Given the description of an element on the screen output the (x, y) to click on. 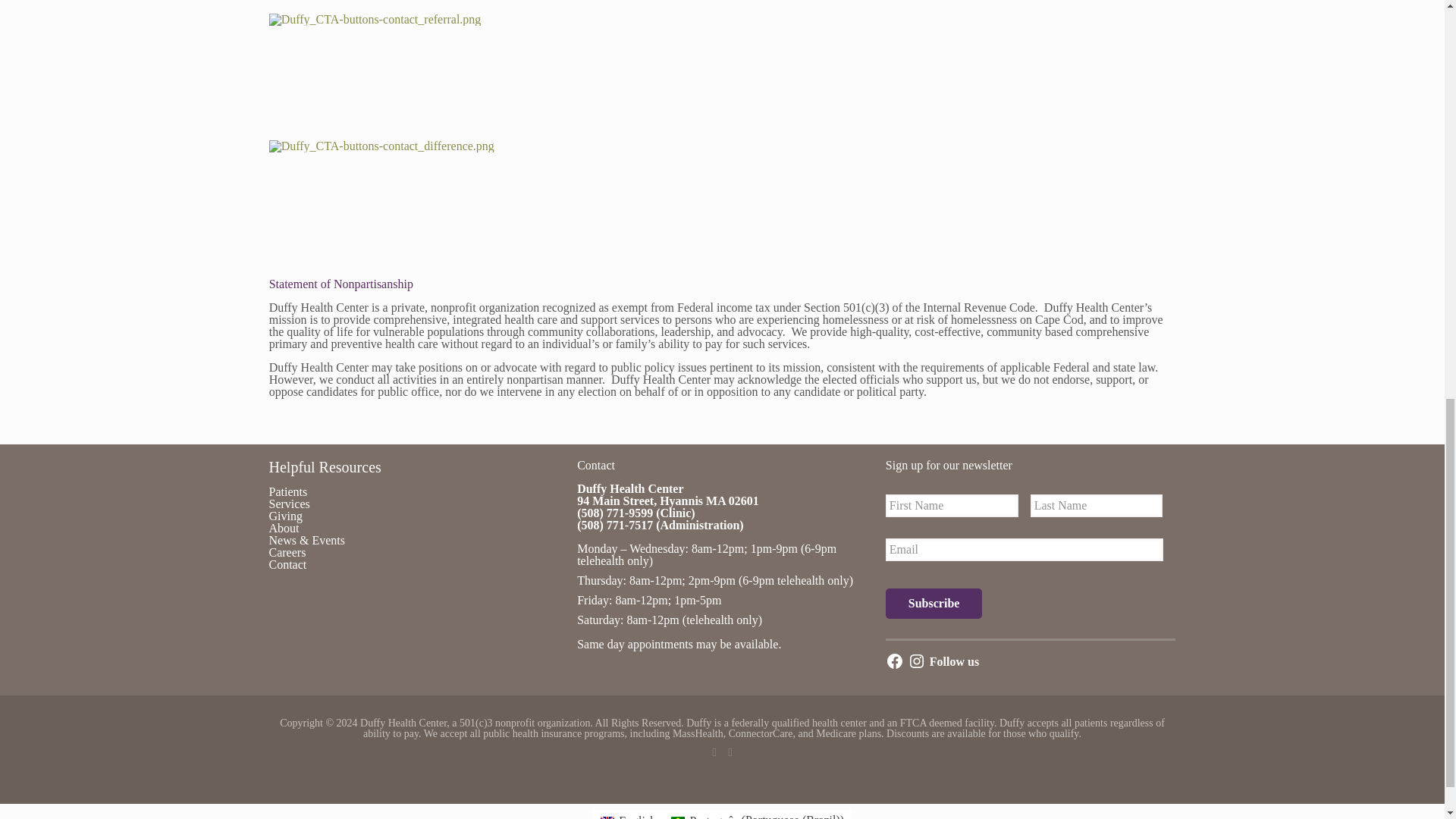
Instagram (730, 752)
Facebook (713, 752)
Subscribe (933, 603)
